Given the description of an element on the screen output the (x, y) to click on. 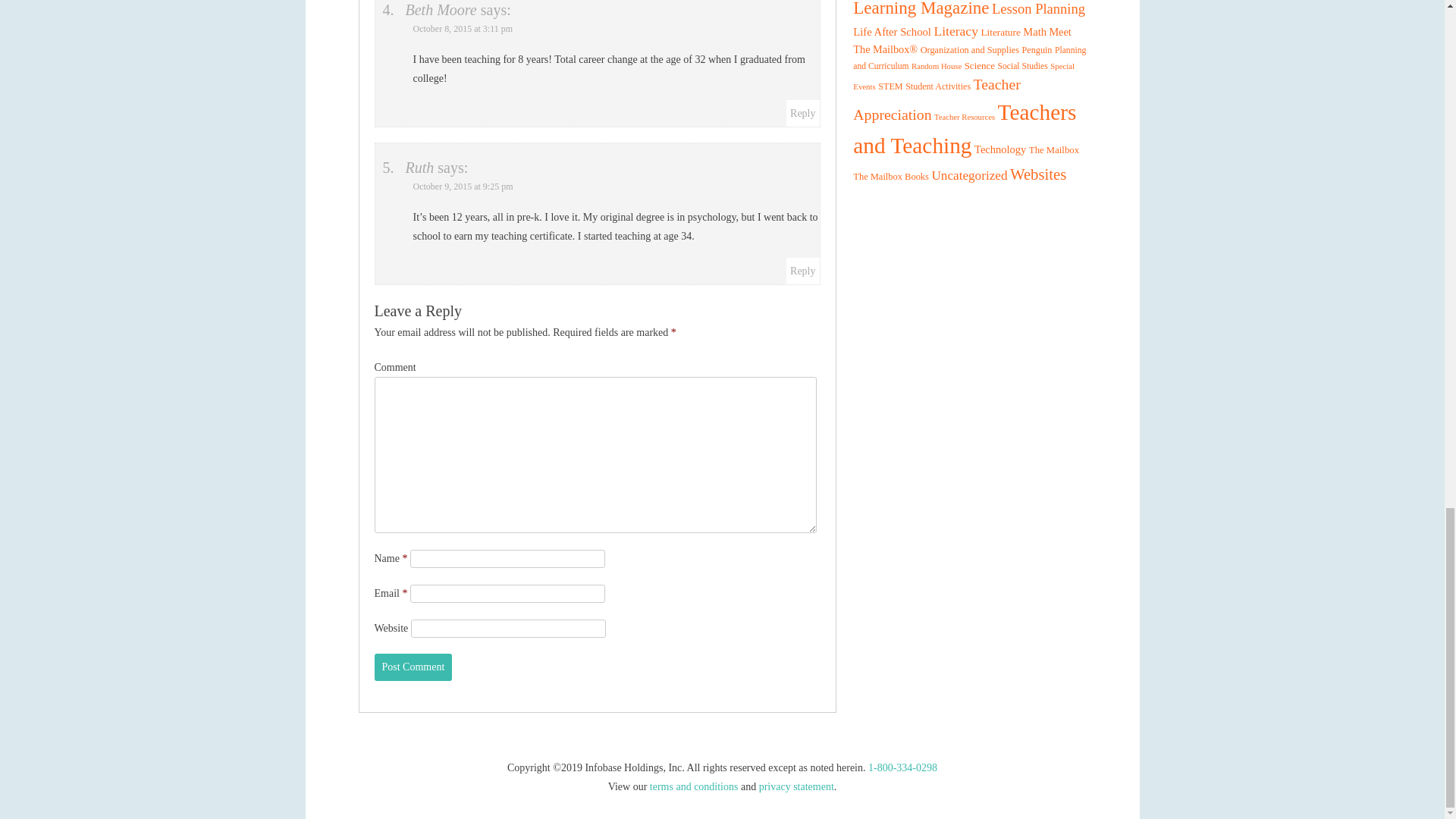
Post Comment (413, 666)
Reply (802, 112)
Post Comment (413, 666)
Reply (802, 270)
October 8, 2015 at 3:11 pm (462, 28)
October 9, 2015 at 9:25 pm (462, 185)
